Given the description of an element on the screen output the (x, y) to click on. 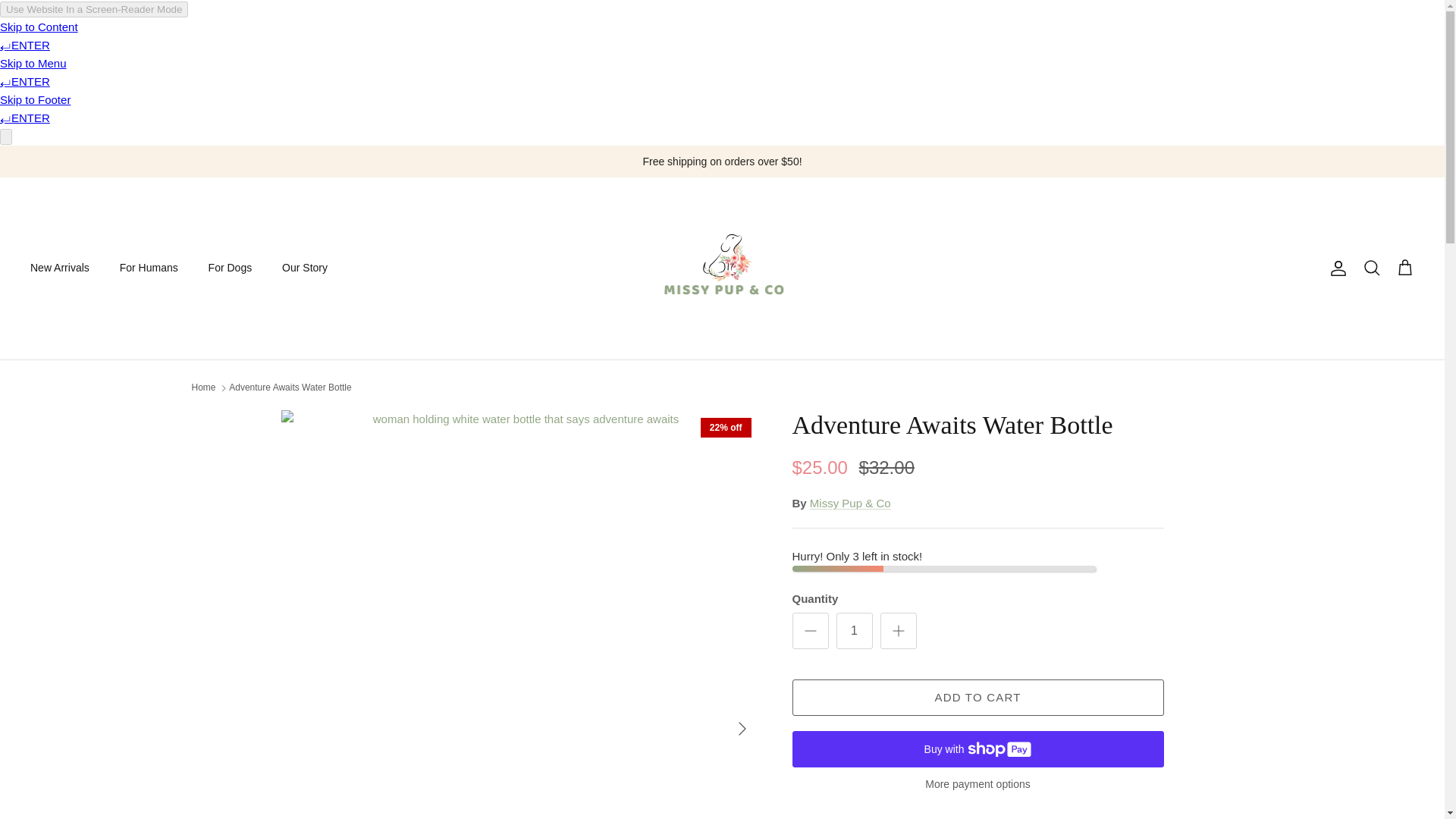
For Dogs (230, 267)
Search (1371, 268)
RIGHT (741, 728)
Minus (809, 630)
Cart (1404, 268)
1 (853, 630)
For Humans (149, 267)
Plus (897, 630)
New Arrivals (59, 267)
Our Story (303, 267)
Account (1335, 268)
